Given the description of an element on the screen output the (x, y) to click on. 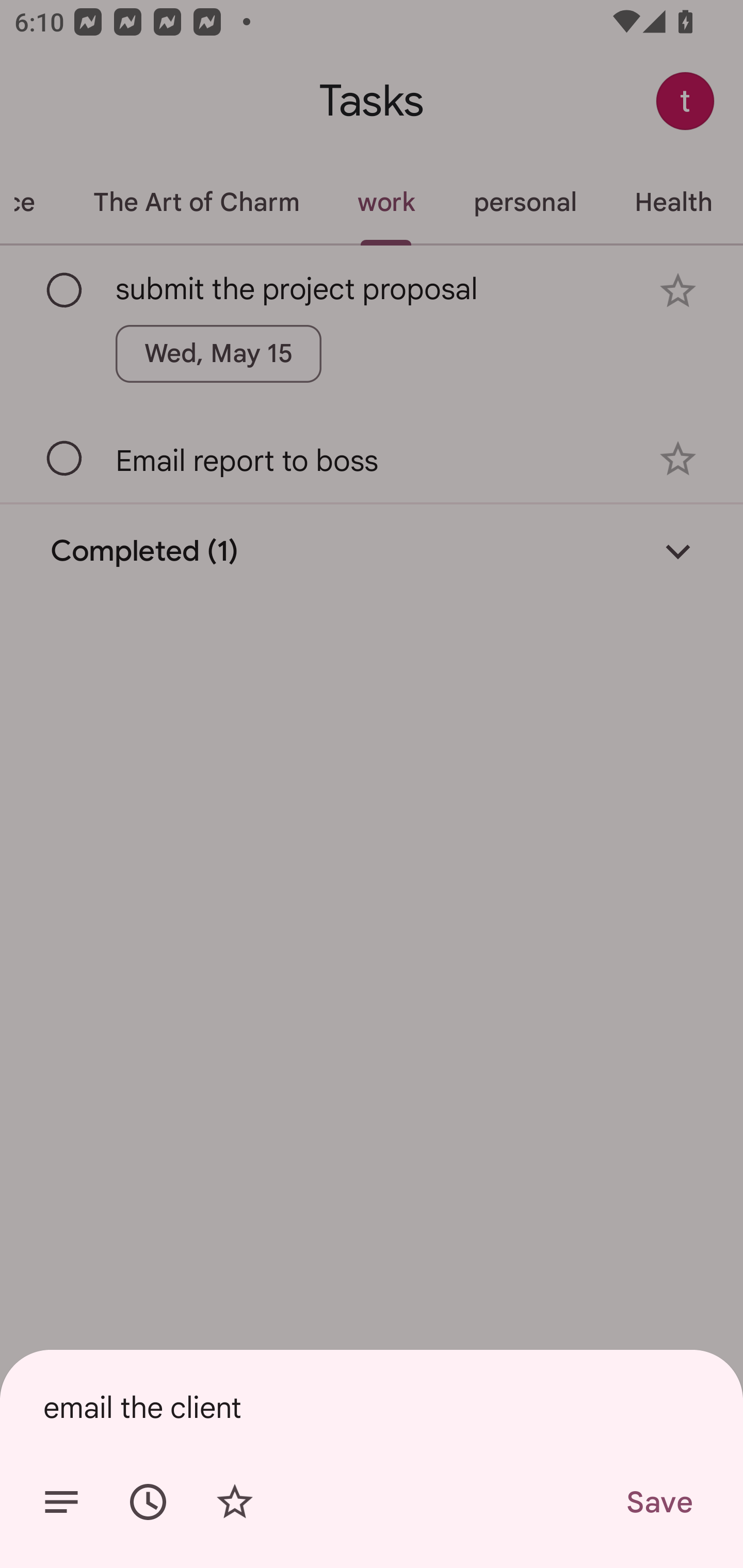
email the client (371, 1407)
Save (659, 1501)
Add details (60, 1501)
Set date/time (147, 1501)
Add star (234, 1501)
